Given the description of an element on the screen output the (x, y) to click on. 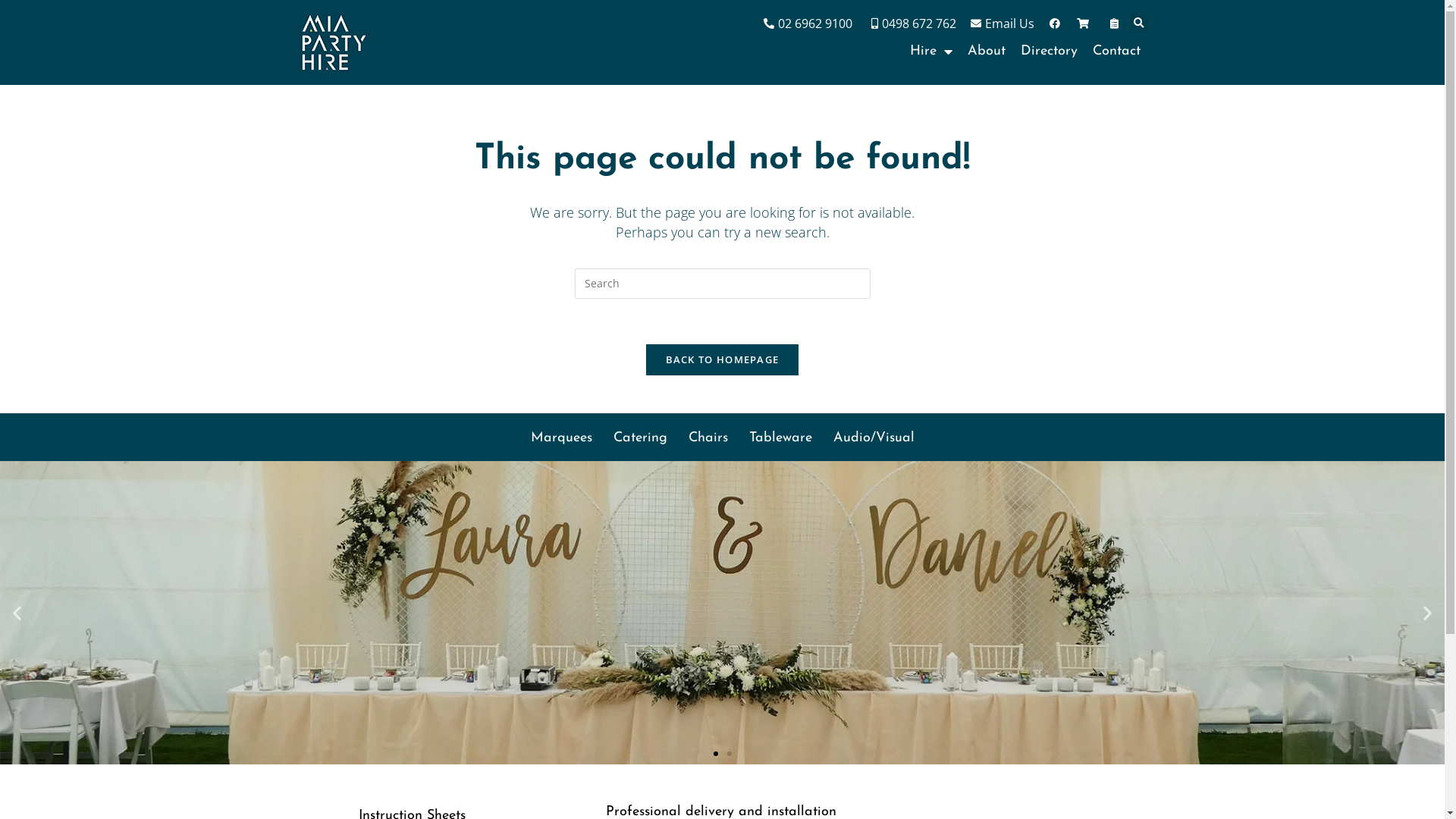
BACK TO HOMEPAGE Element type: text (722, 359)
Directory Element type: text (1049, 51)
Audio/Visual Element type: text (873, 437)
About Element type: text (986, 51)
Tableware Element type: text (780, 437)
Contact Element type: text (1116, 51)
Hire Element type: text (931, 51)
Email Us Element type: text (1001, 23)
Marquees Element type: text (561, 437)
02 6962 9100 Element type: text (807, 23)
Chairs Element type: text (707, 437)
Catering Element type: text (639, 437)
